Given the description of an element on the screen output the (x, y) to click on. 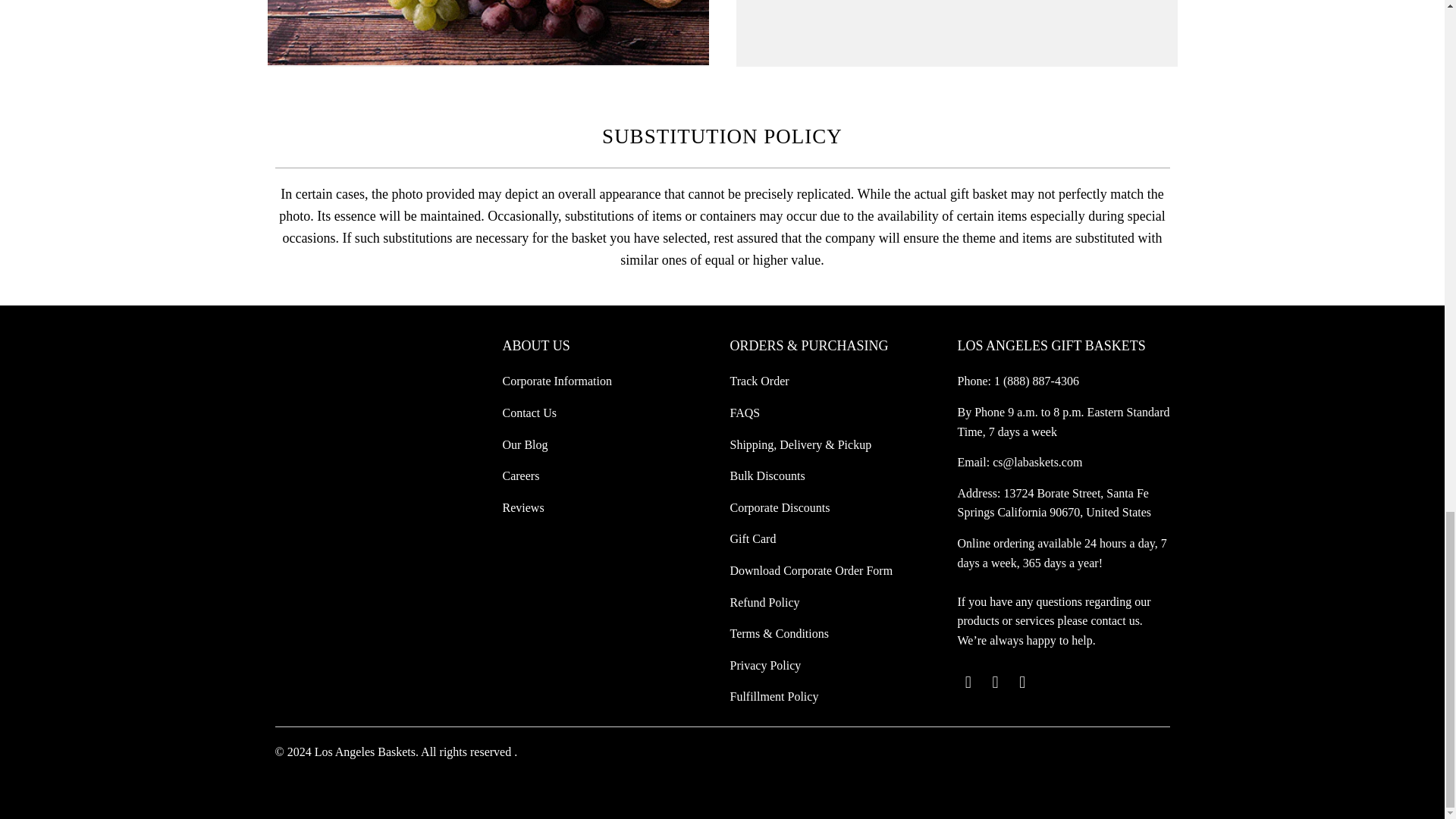
FREE DELIVERY IN USA (486, 33)
Los Angeles Baskets on Instagram (1022, 682)
Los Angeles Baskets on Twitter (967, 682)
Los Angeles Baskets on Facebook (995, 682)
